Given the description of an element on the screen output the (x, y) to click on. 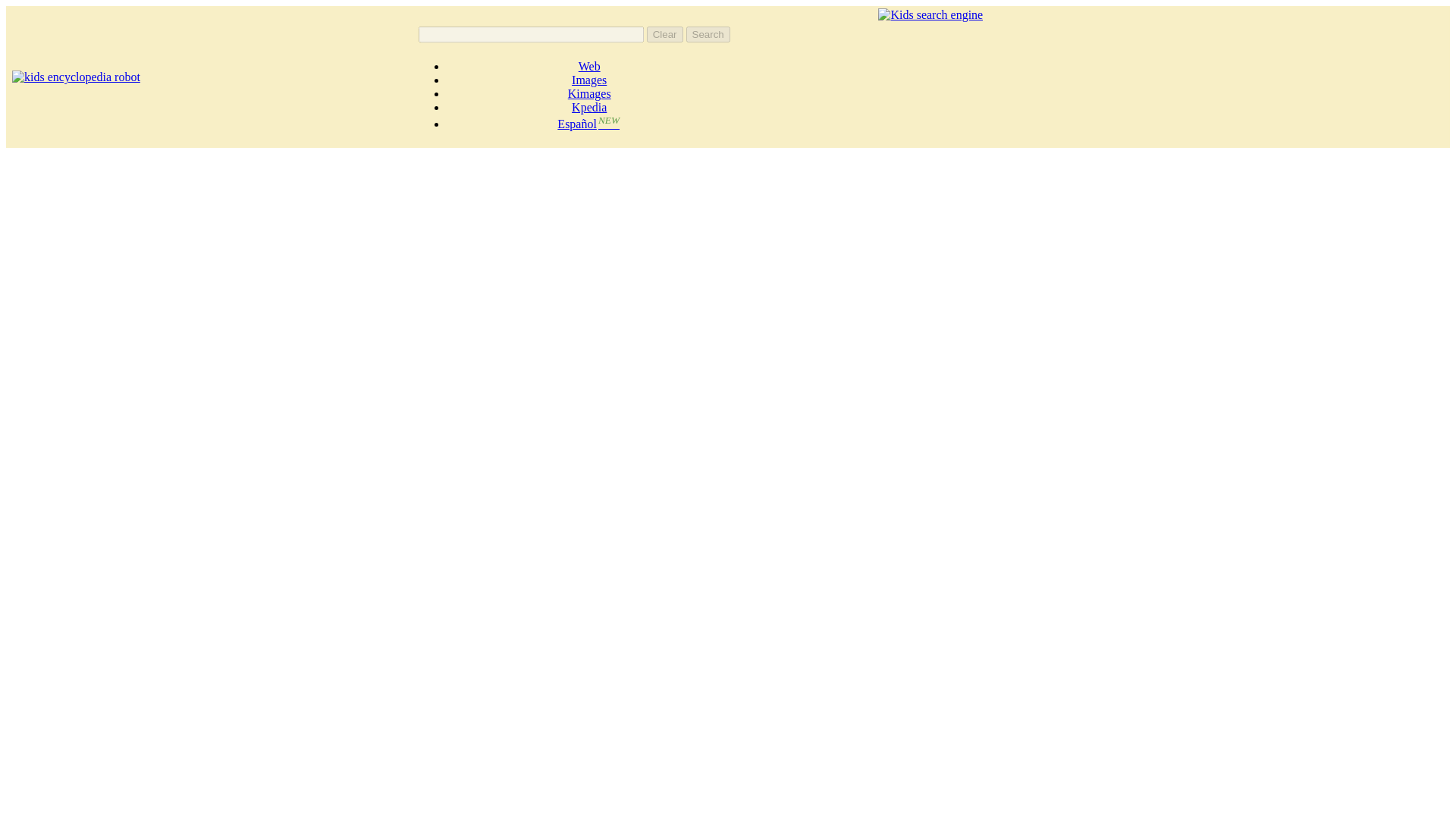
Images (589, 79)
Web (588, 65)
Clear (664, 34)
Kimages (589, 92)
Search (707, 34)
Kpedia (589, 106)
